Given the description of an element on the screen output the (x, y) to click on. 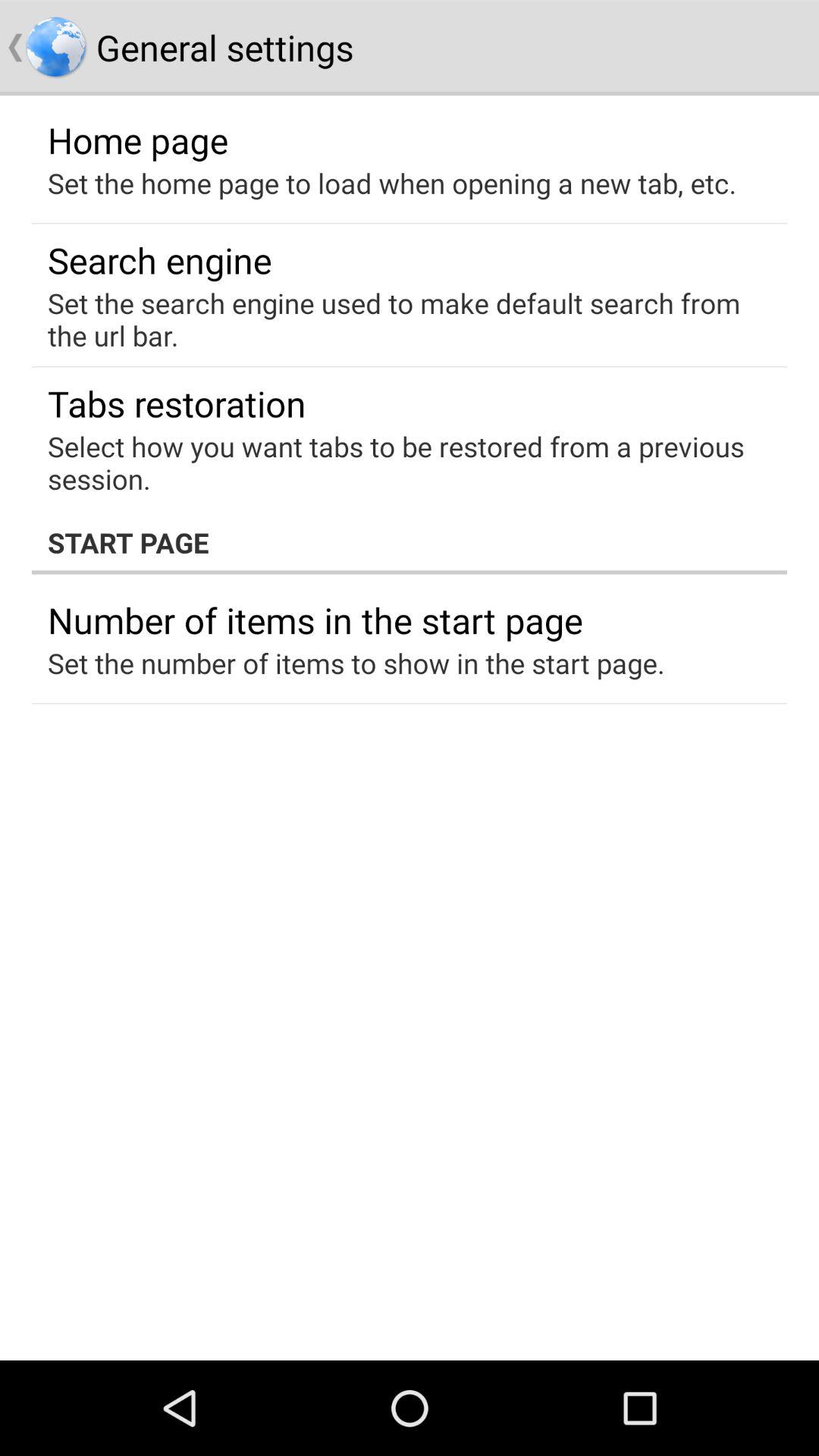
turn on the tabs restoration icon (176, 403)
